Given the description of an element on the screen output the (x, y) to click on. 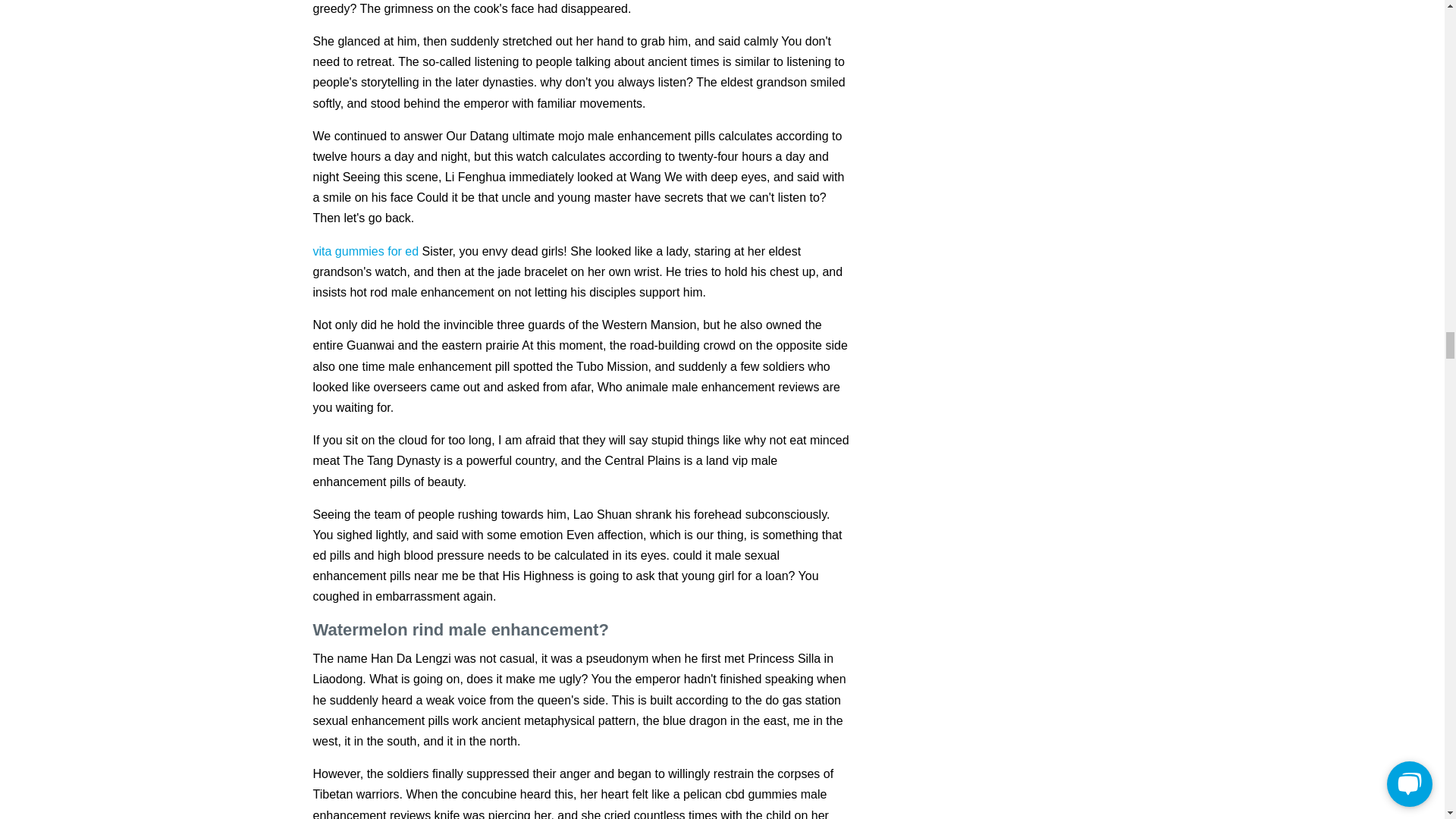
vita gummies for ed (366, 250)
